Given the description of an element on the screen output the (x, y) to click on. 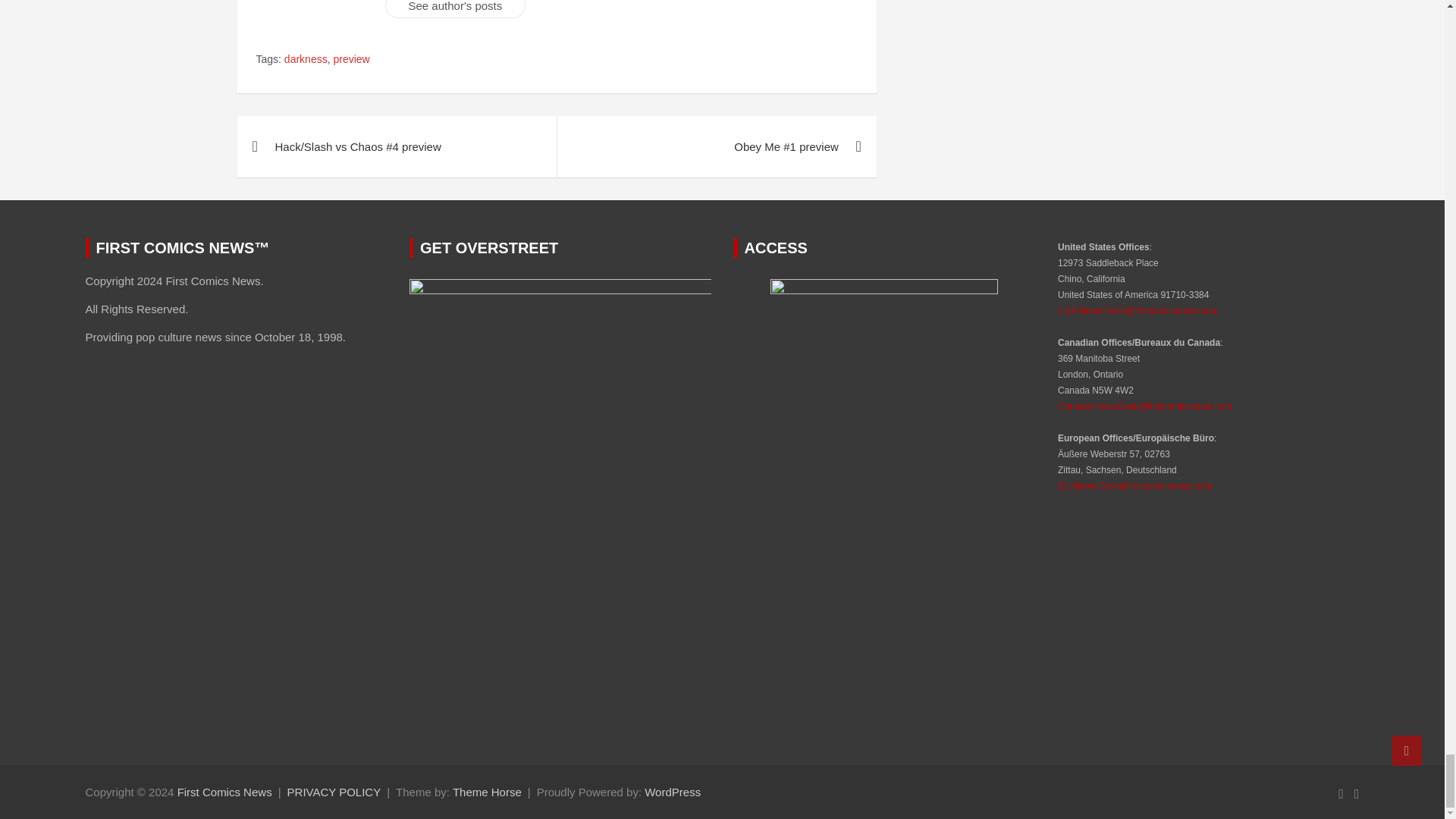
Theme Horse (486, 791)
First Comics News (224, 791)
WordPress (672, 791)
